Given the description of an element on the screen output the (x, y) to click on. 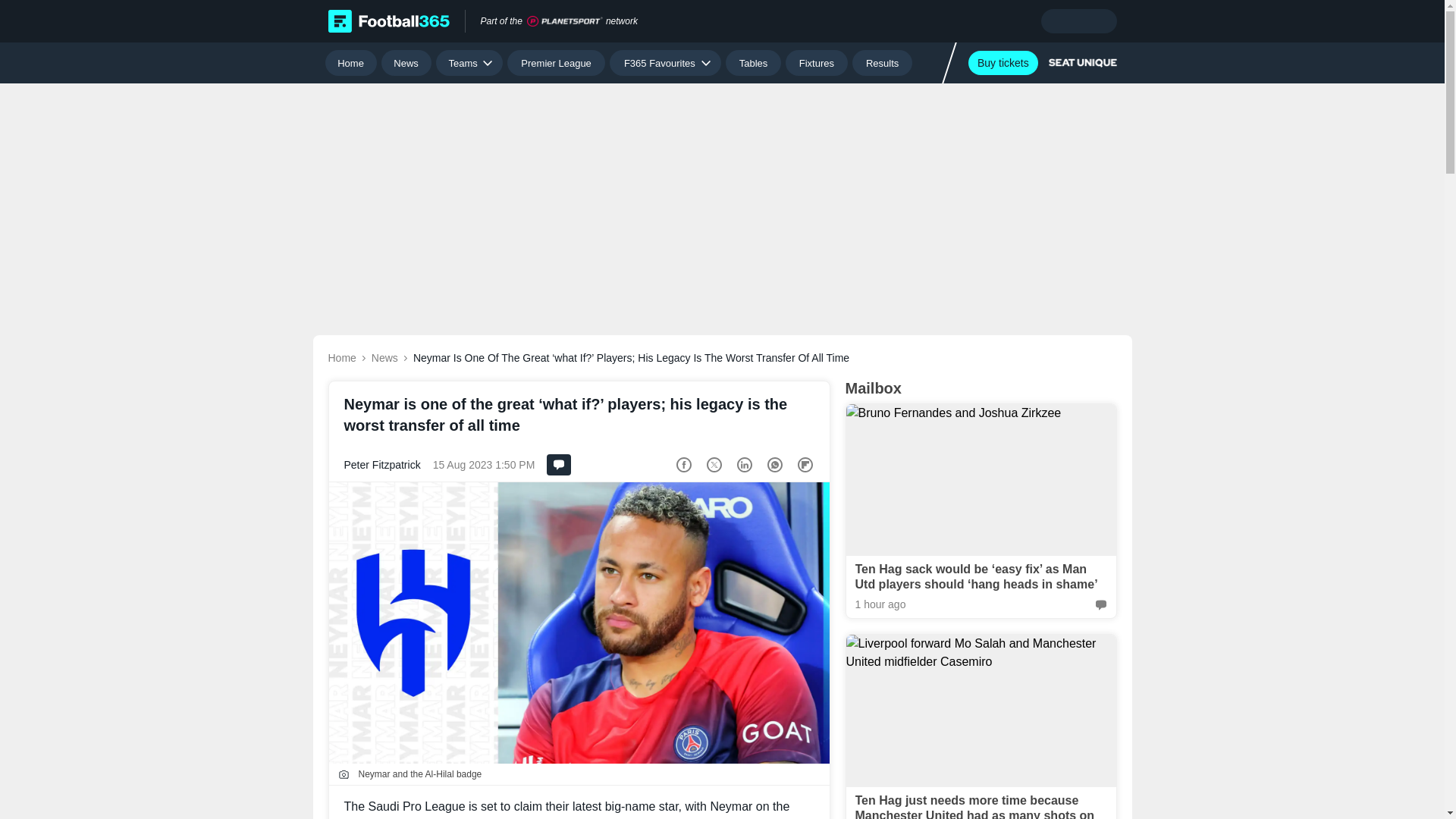
F365 Favourites (665, 62)
Premier League (555, 62)
Fixtures (817, 62)
News (405, 62)
Teams (468, 62)
Home (349, 62)
Tables (752, 62)
